Given the description of an element on the screen output the (x, y) to click on. 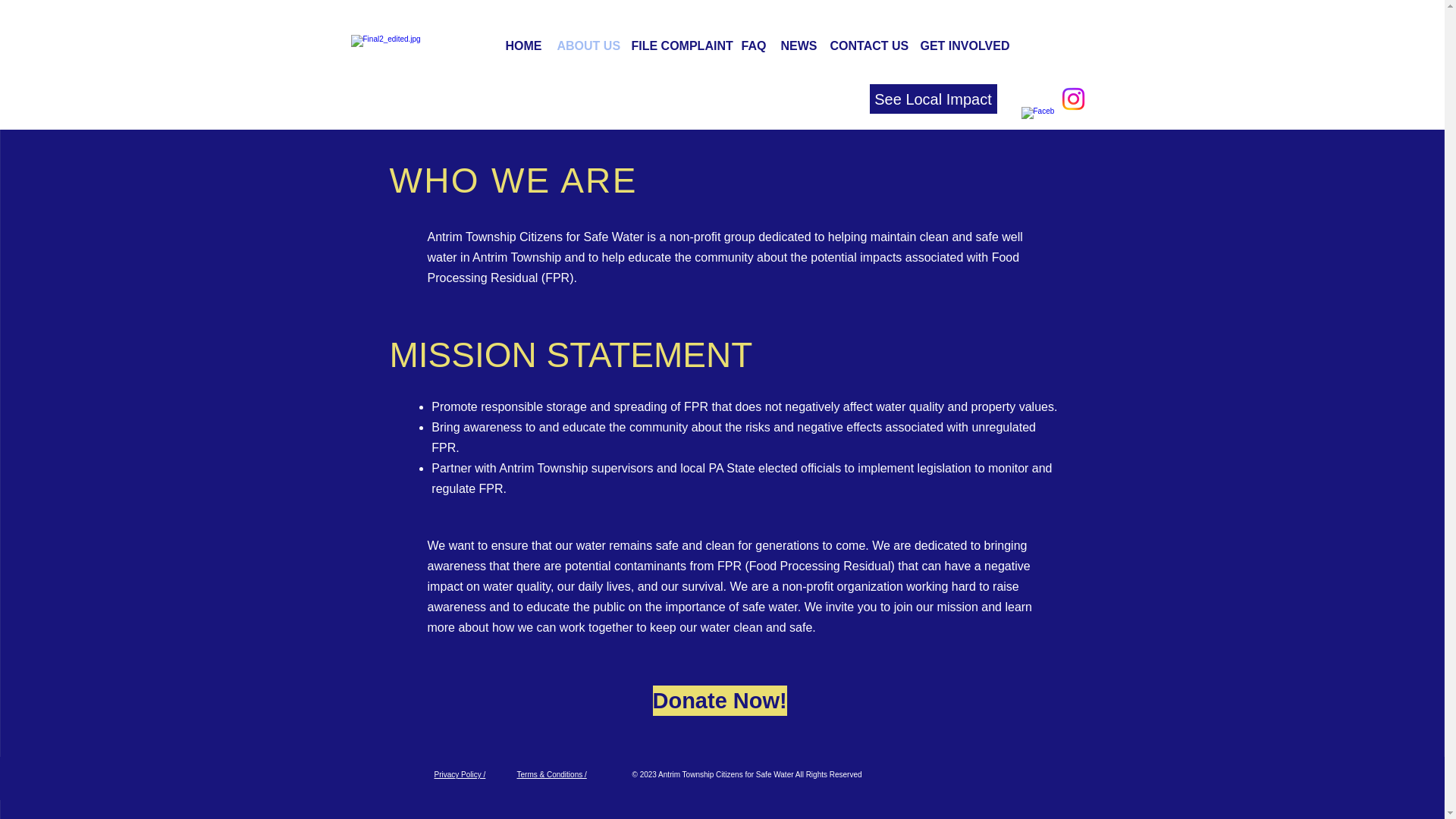
HOME (522, 46)
GET INVOLVED (961, 46)
FAQ (753, 46)
See Local Impact (932, 98)
CONTACT US (867, 46)
ABOUT US (585, 46)
Donate Now! (719, 700)
NEWS (797, 46)
FILE COMPLAINT (678, 46)
